Given the description of an element on the screen output the (x, y) to click on. 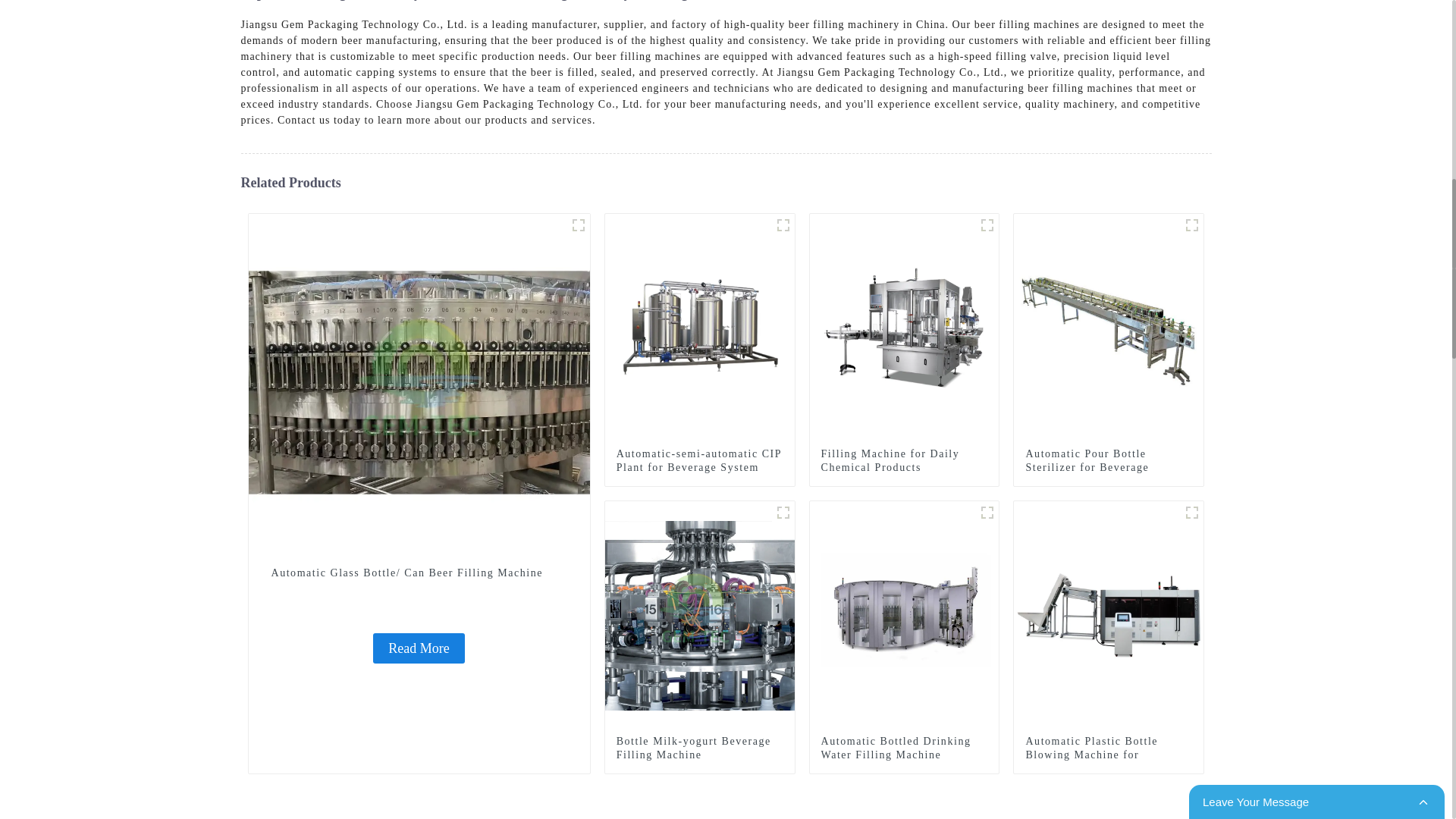
Bottle Milk-yogurt Beverage Filling Machine (699, 614)
Filling Machine for Daily Chemical Products (904, 461)
Filling Machine for Daily Chemical Products (904, 461)
Read More (418, 648)
Automatic-semi-automatic CIP Plant for Beverage System (699, 326)
Automatic Pour Bottle Sterilizer for Beverage (1108, 326)
Automatic-semi-automatic CIP Plant for Beverage System (699, 461)
Filling Machine for Daily Chemical Products (903, 326)
Automatic Pour Bottle Sterilizer for Beverage (1108, 461)
Milk-yogurt-filling-machine3 (782, 512)
